Given the description of an element on the screen output the (x, y) to click on. 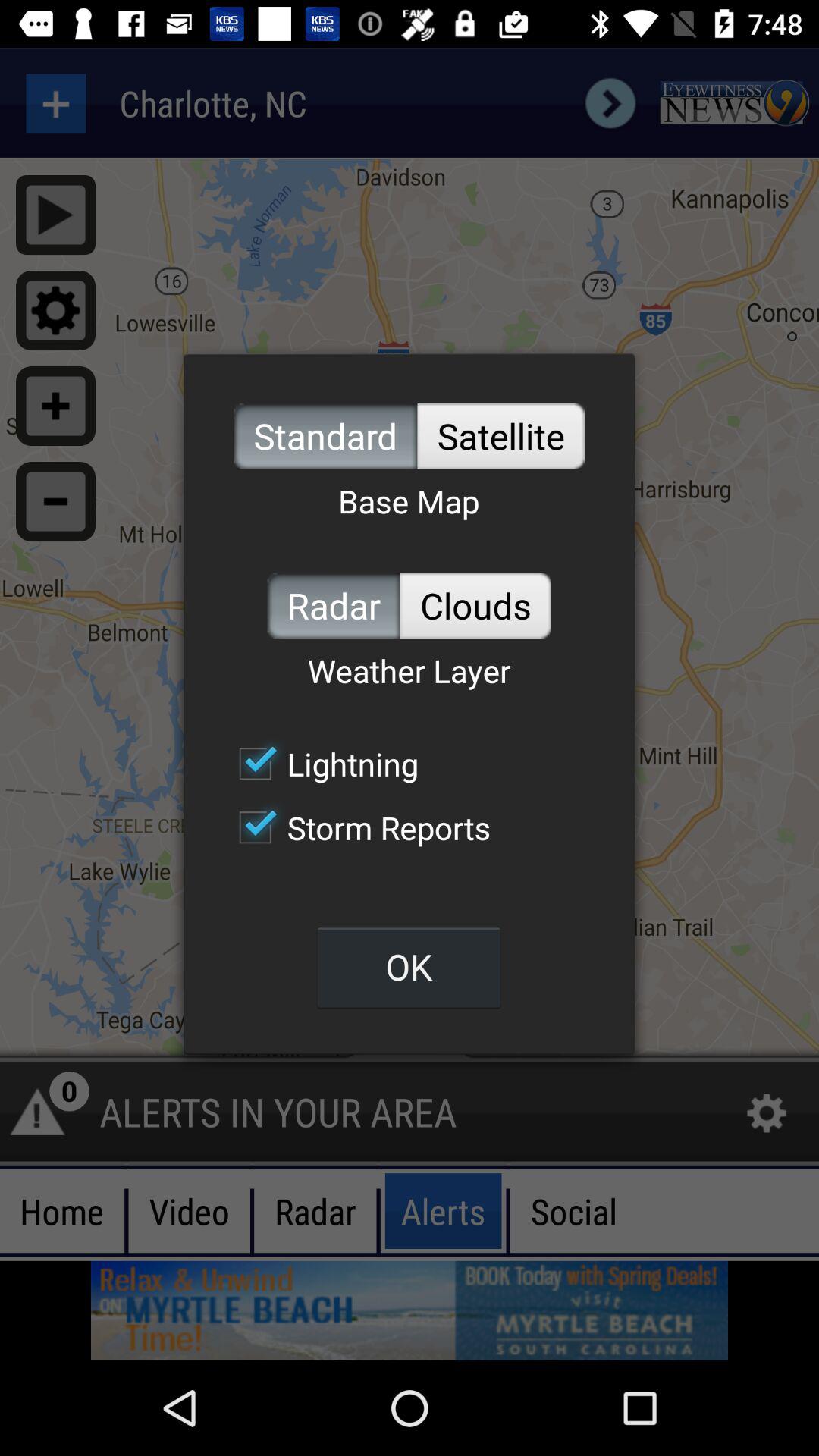
click icon above the weather layer icon (333, 605)
